Given the description of an element on the screen output the (x, y) to click on. 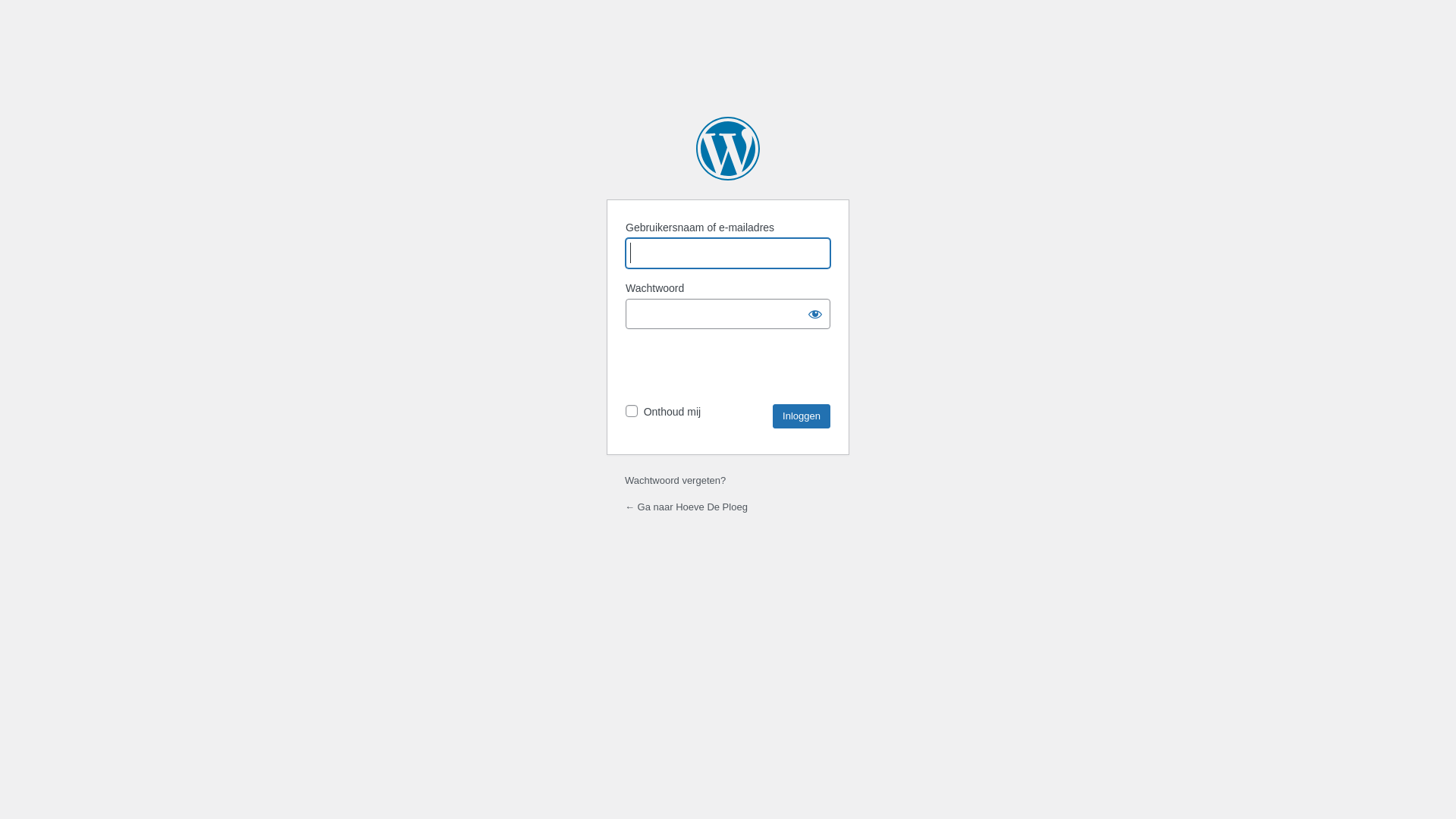
Wachtwoord vergeten? Element type: text (674, 480)
Widget containing checkbox for hCaptcha security challenge Element type: hover (729, 365)
Mogelijk gemaakt door WordPress Element type: text (727, 148)
Inloggen Element type: text (801, 416)
